Given the description of an element on the screen output the (x, y) to click on. 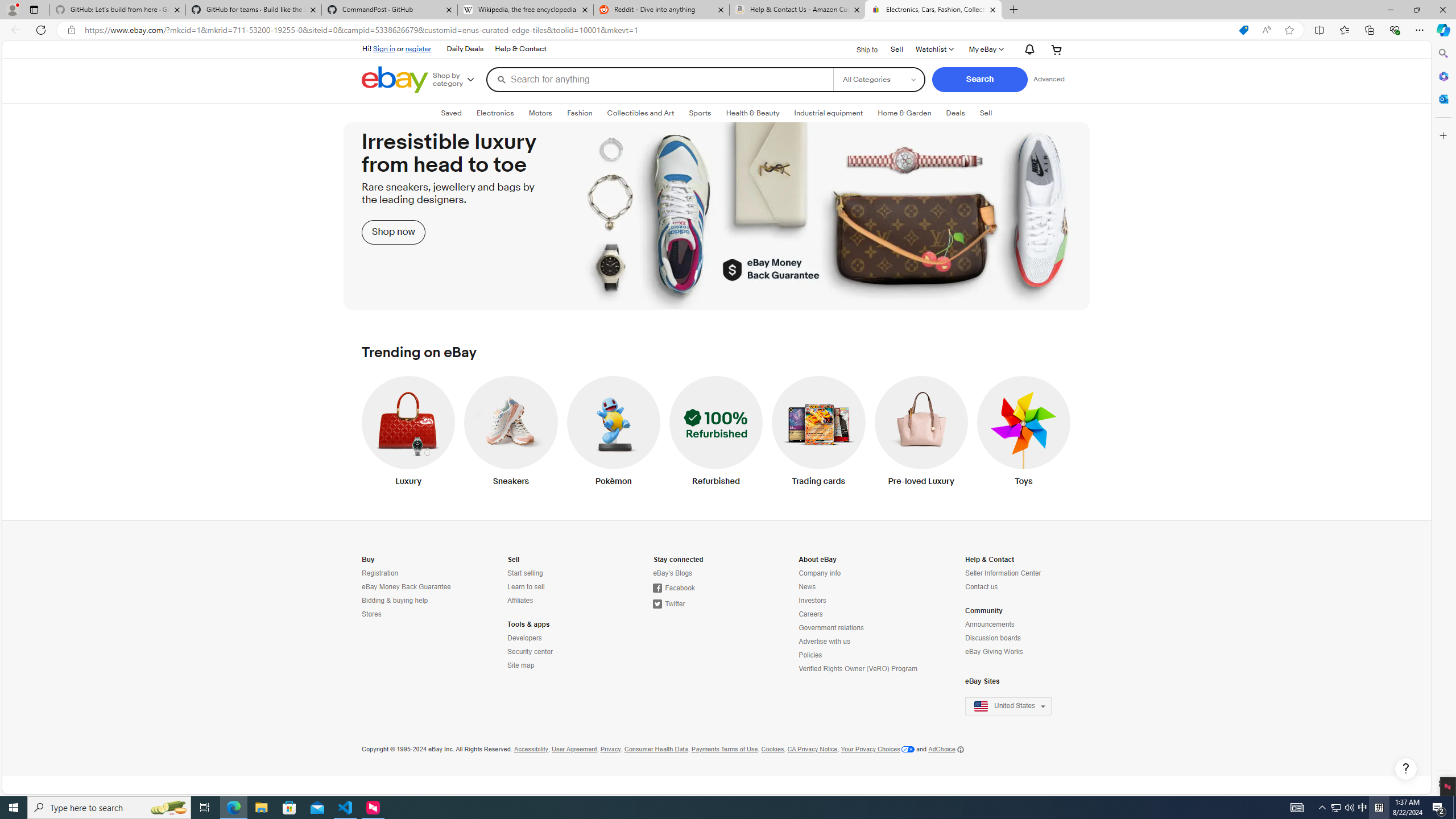
Home & GardenExpand: Home & Garden (904, 112)
Start selling (524, 573)
Help & Contact (520, 49)
Refurbished (715, 433)
User Agreement (573, 749)
Sneakers (510, 433)
Government relations (858, 628)
Verified Rights Owner (VeRO) Program (857, 669)
Expand Cart (1056, 49)
My eBay (985, 49)
